Given the description of an element on the screen output the (x, y) to click on. 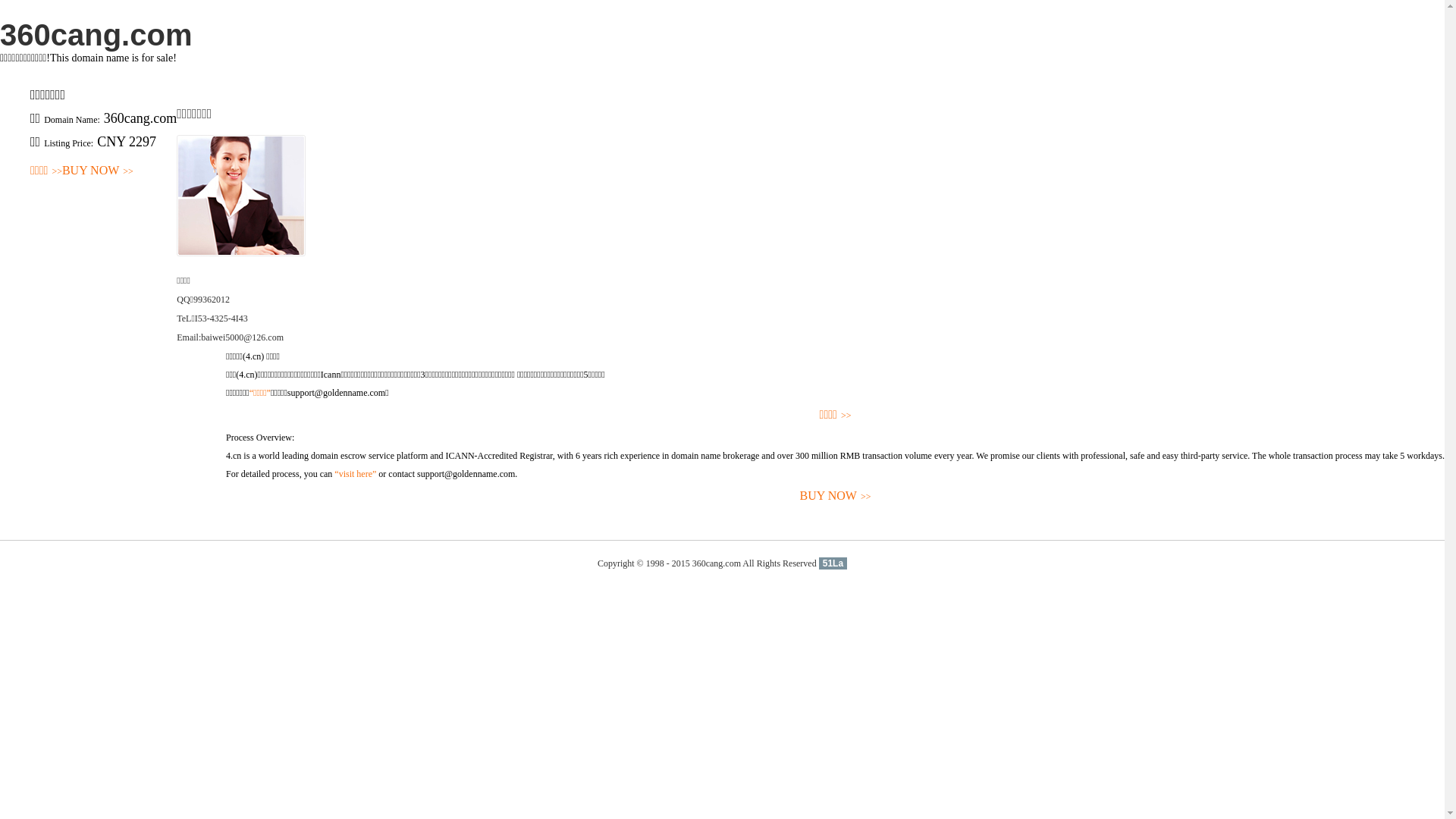
BUY NOW>> Element type: text (97, 170)
BUY NOW>> Element type: text (834, 496)
51La Element type: text (833, 563)
